Given the description of an element on the screen output the (x, y) to click on. 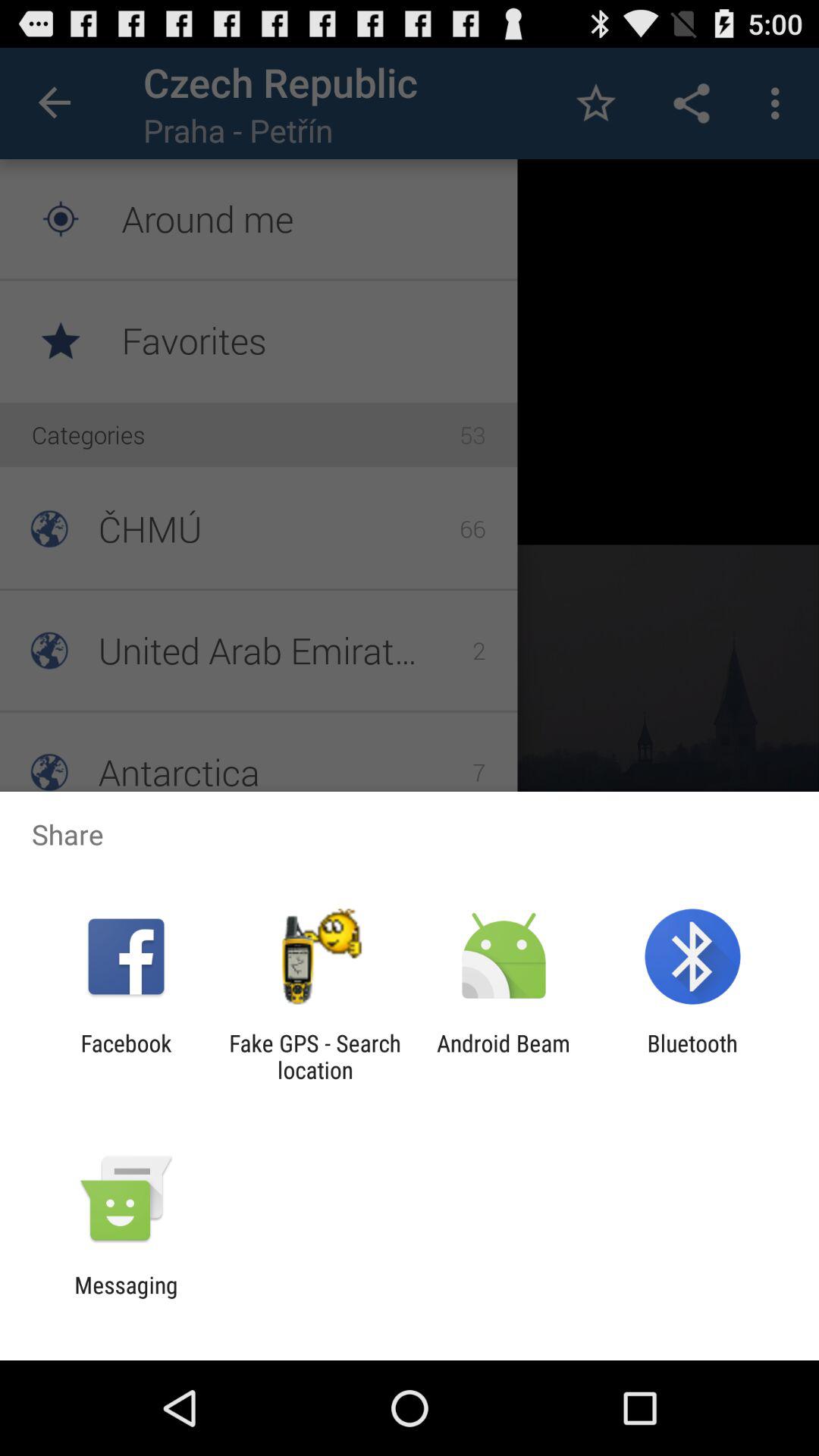
scroll until messaging item (126, 1298)
